Given the description of an element on the screen output the (x, y) to click on. 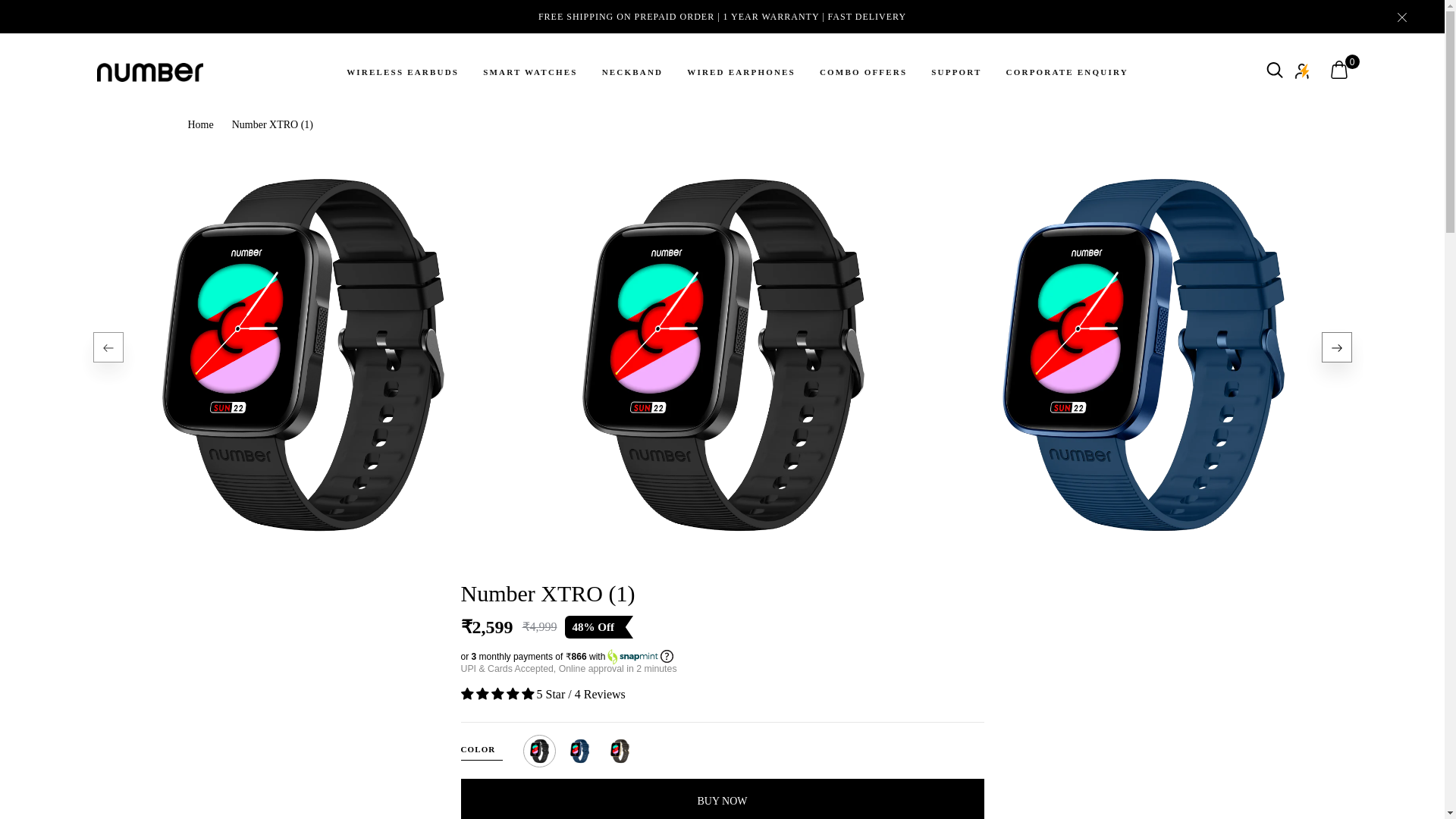
WIRELESS EARBUDS (402, 72)
SUPPORT (956, 72)
CORPORATE ENQUIRY (1067, 72)
SMART WATCHES (530, 72)
COMBO OFFERS (863, 72)
WIRED EARPHONES (740, 72)
NECKBAND (632, 72)
